Given the description of an element on the screen output the (x, y) to click on. 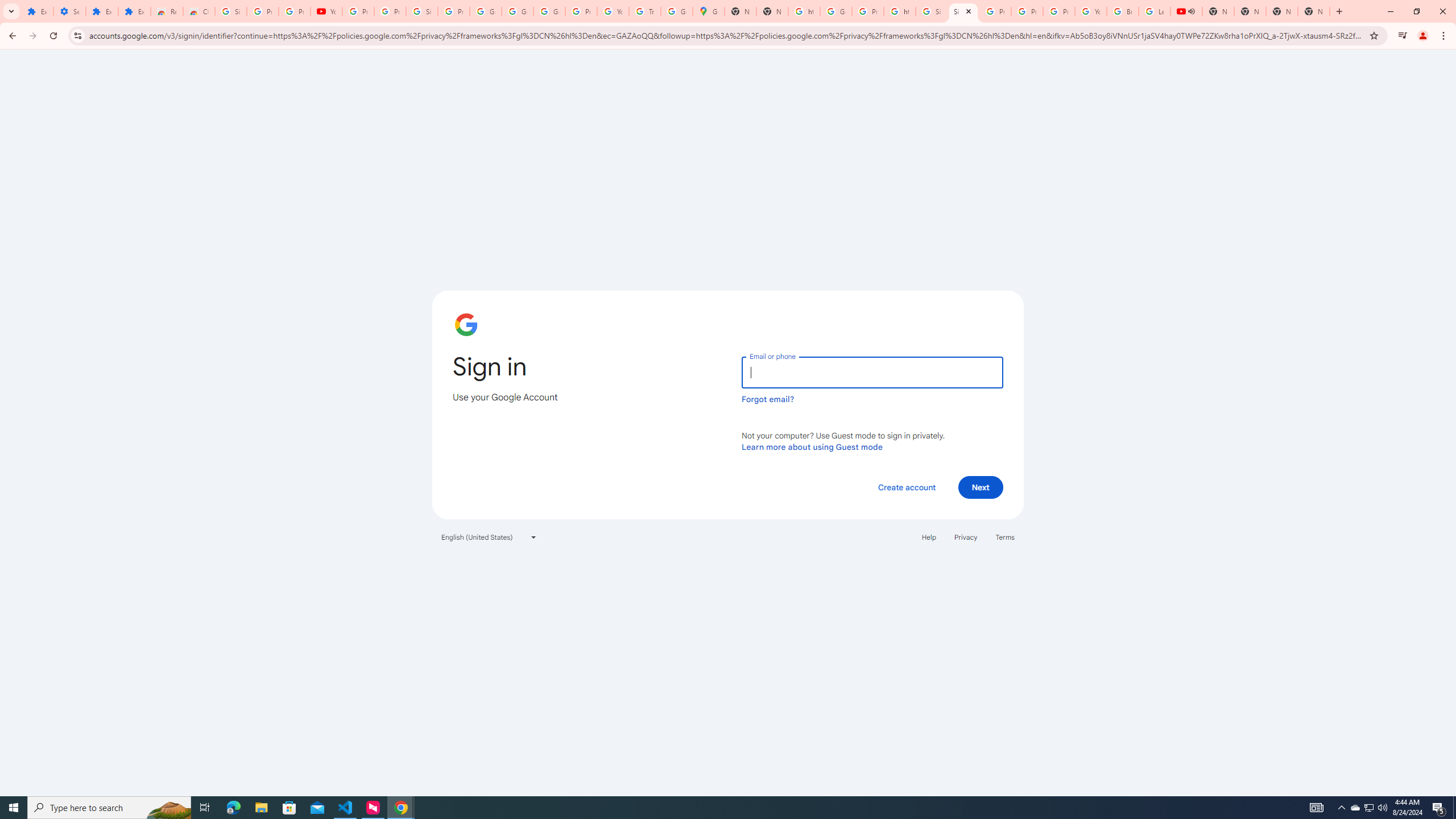
Reviews: Helix Fruit Jump Arcade Game (166, 11)
YouTube (326, 11)
Forgot email? (767, 398)
New Tab (1281, 11)
https://scholar.google.com/ (804, 11)
Privacy Help Center - Policies Help (1027, 11)
